Given the description of an element on the screen output the (x, y) to click on. 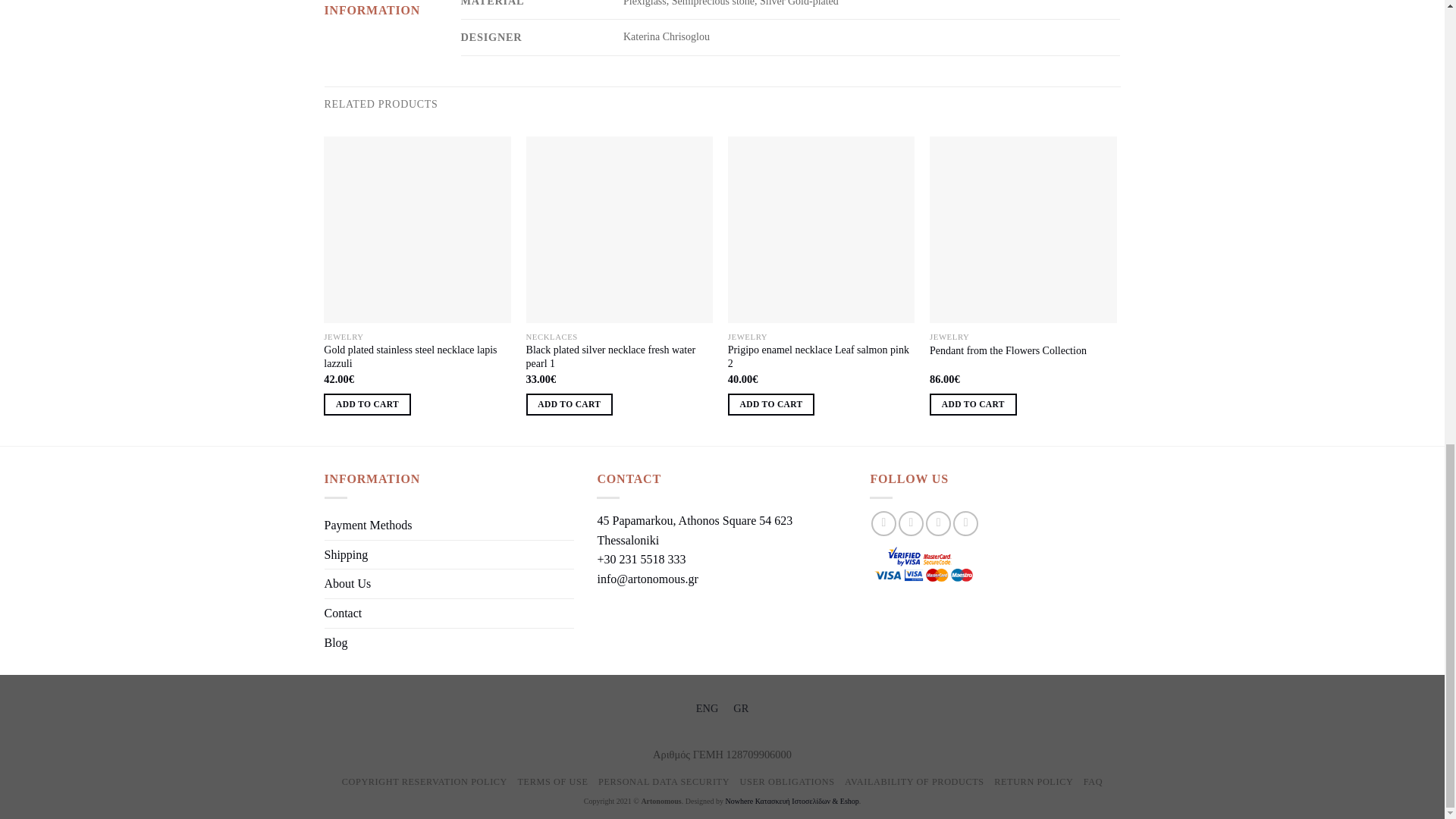
Follow on Facebook (883, 523)
Follow on Pinterest (965, 523)
Follow on Twitter (938, 523)
Follow on Instagram (910, 523)
